Given the description of an element on the screen output the (x, y) to click on. 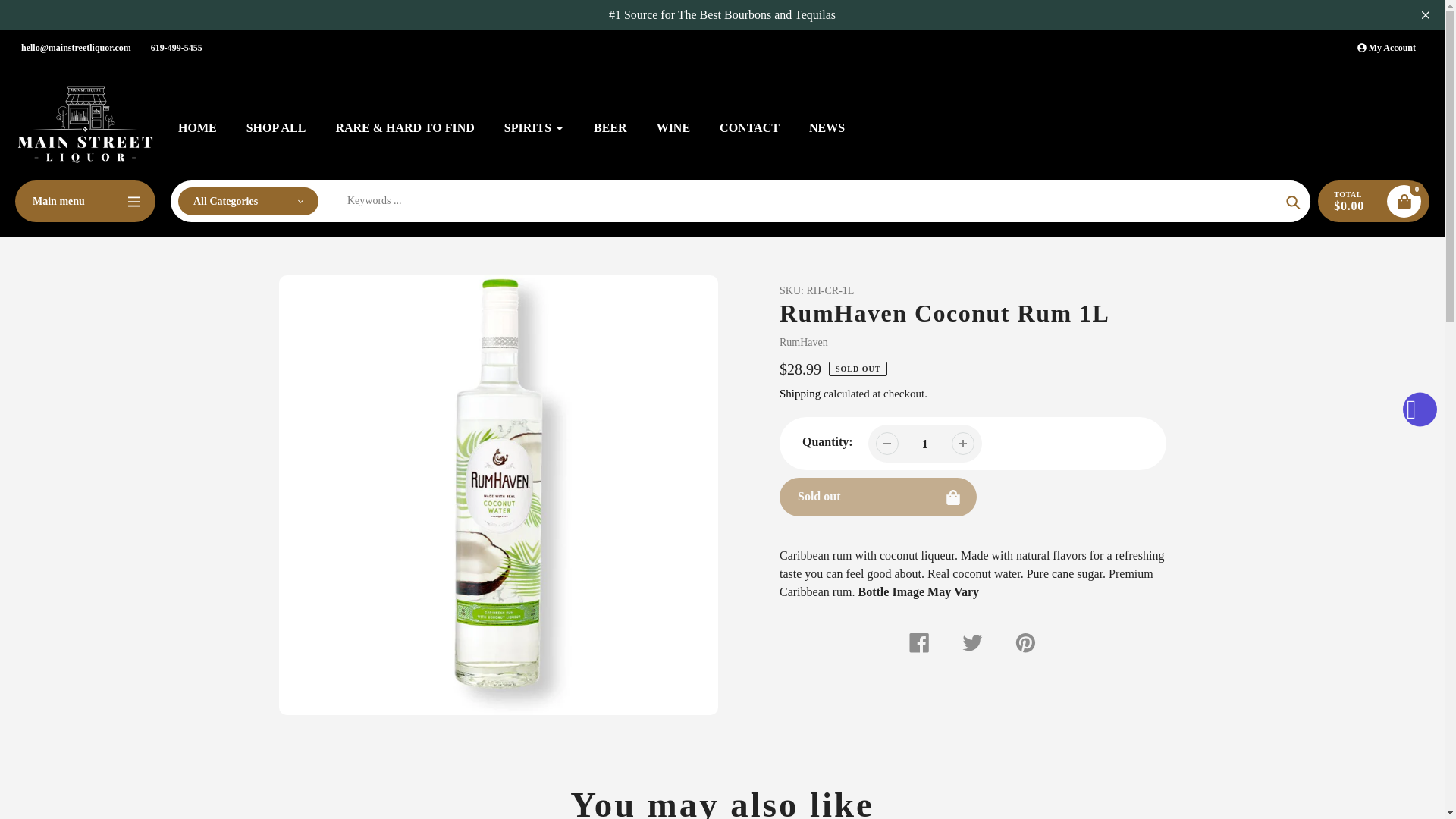
WINE (673, 127)
Main menu (84, 200)
619-499-5455 (176, 48)
1 (925, 443)
My Account (1386, 48)
SHOP ALL (275, 127)
HOME (196, 127)
BEER (610, 127)
CONTACT (748, 127)
NEWS (826, 127)
SPIRITS (533, 127)
